Given the description of an element on the screen output the (x, y) to click on. 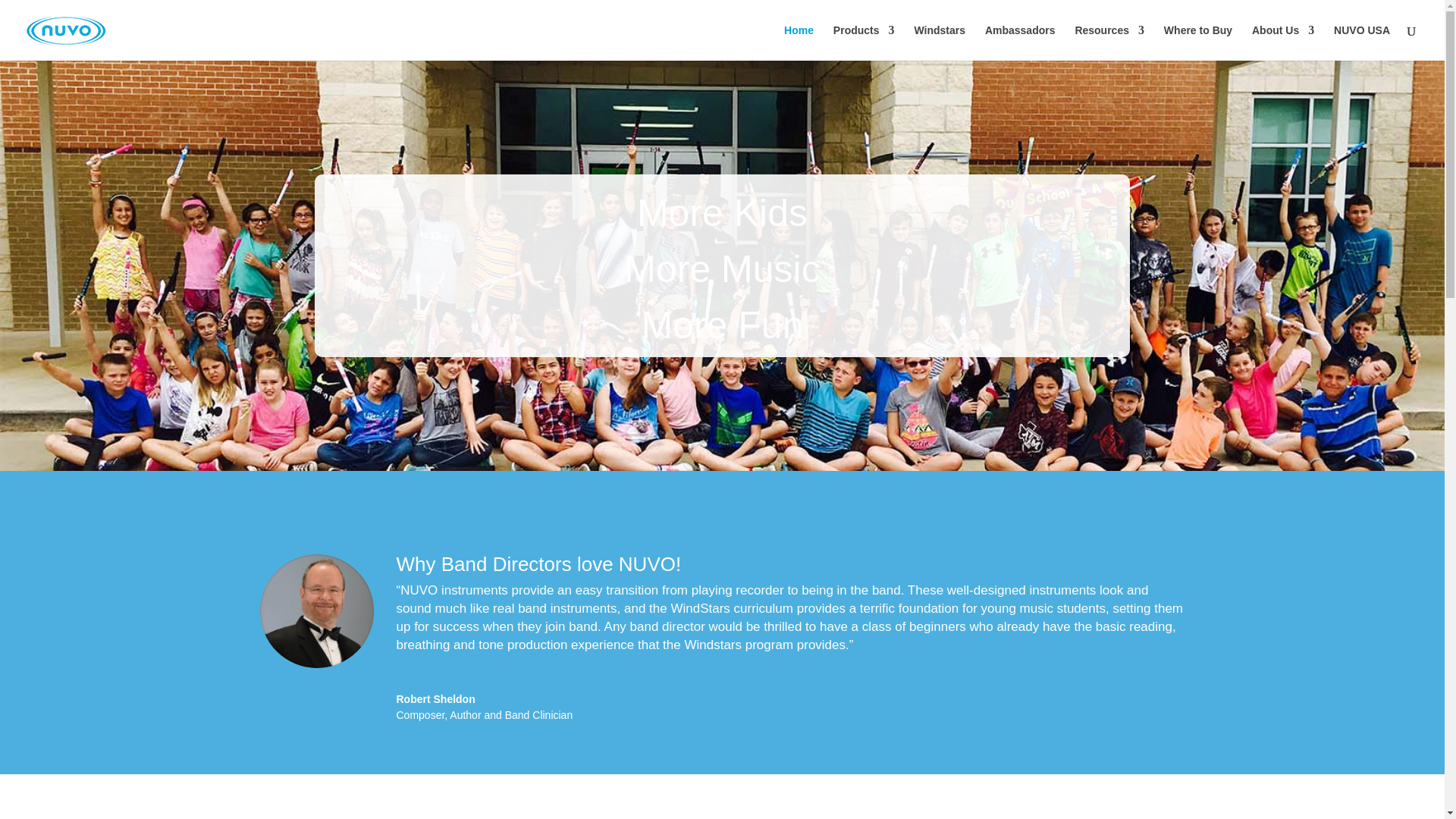
NUVO USA (1361, 42)
Where to Buy (1197, 42)
About Us (1283, 42)
Ambassadors (1020, 42)
Products (863, 42)
Resources (1109, 42)
Windstars (939, 42)
